Given the description of an element on the screen output the (x, y) to click on. 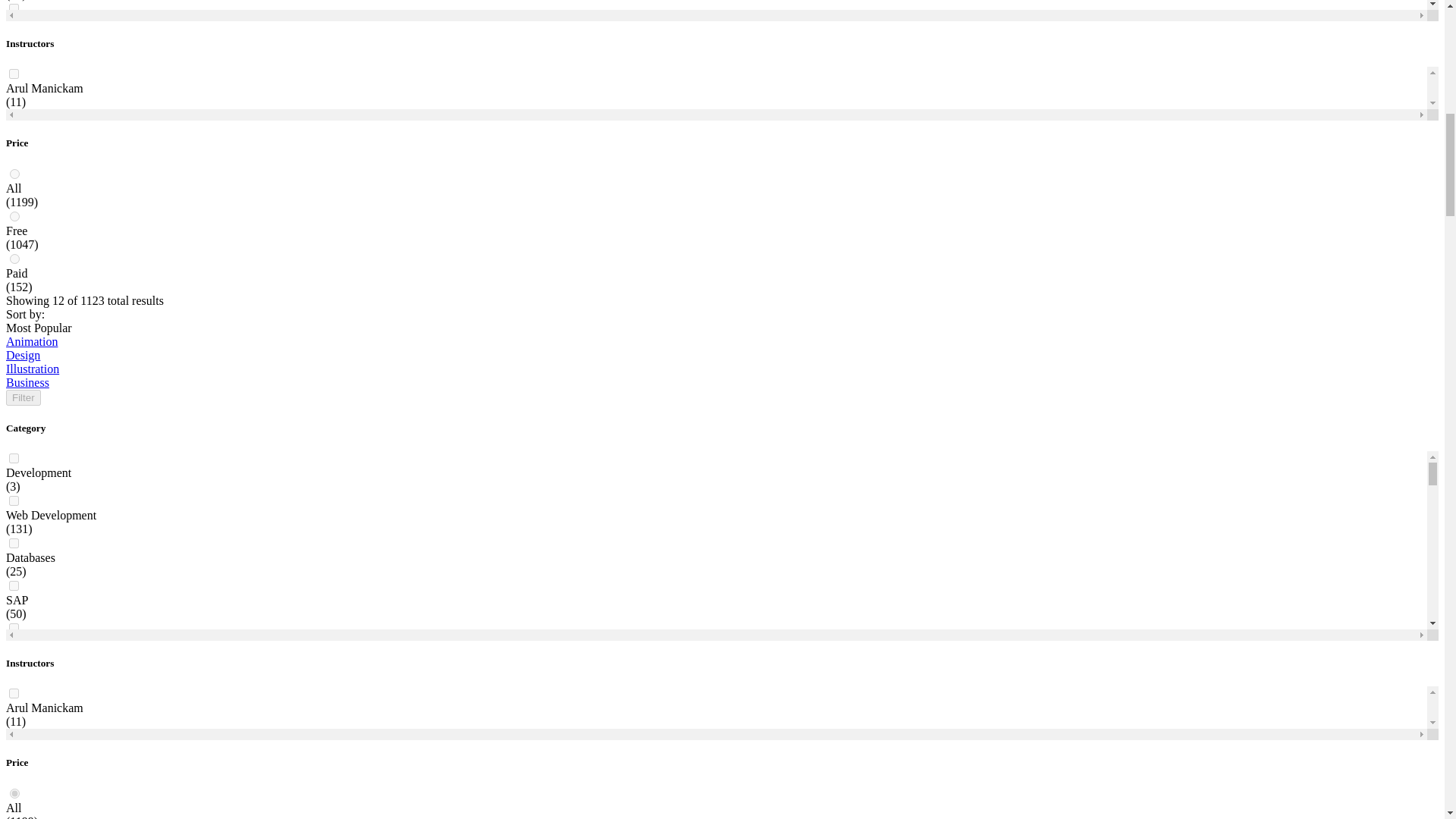
164 (13, 178)
Business (27, 382)
167 (13, 306)
Animation (31, 341)
172 (13, 518)
165 (13, 221)
162 (13, 93)
166 (13, 263)
Illustration (32, 368)
Design (22, 354)
168 (13, 347)
Filter (22, 397)
169 (13, 390)
173 (13, 560)
118 (13, 50)
